Given the description of an element on the screen output the (x, y) to click on. 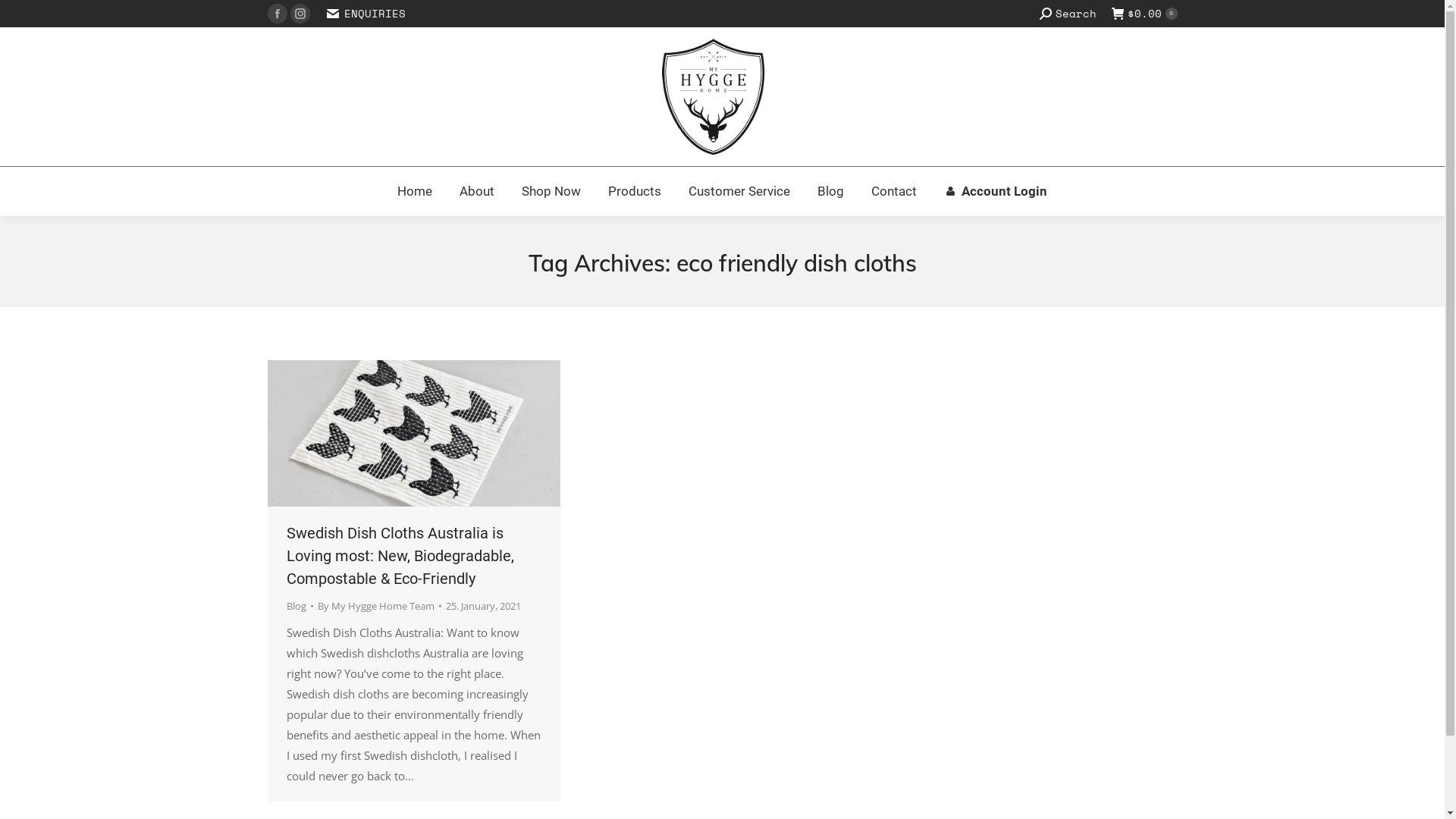
Search Element type: text (1066, 13)
Facebook page opens in new window Element type: text (276, 13)
ENQUIRIES Element type: text (364, 13)
Shop Now Element type: text (550, 191)
Blog Element type: text (296, 605)
$0.00
0 Element type: text (1144, 13)
Home Element type: text (414, 191)
About Element type: text (476, 191)
Go! Element type: text (23, 16)
Account Login Element type: text (996, 191)
Blog Element type: text (830, 191)
Instagram page opens in new window Element type: text (299, 13)
25. January, 2021 Element type: text (482, 606)
swedish_dish_cloths_australia Element type: hover (412, 433)
Customer Service Element type: text (739, 191)
By My Hygge Home Team Element type: text (378, 606)
Products Element type: text (634, 191)
Contact Element type: text (893, 191)
